Given the description of an element on the screen output the (x, y) to click on. 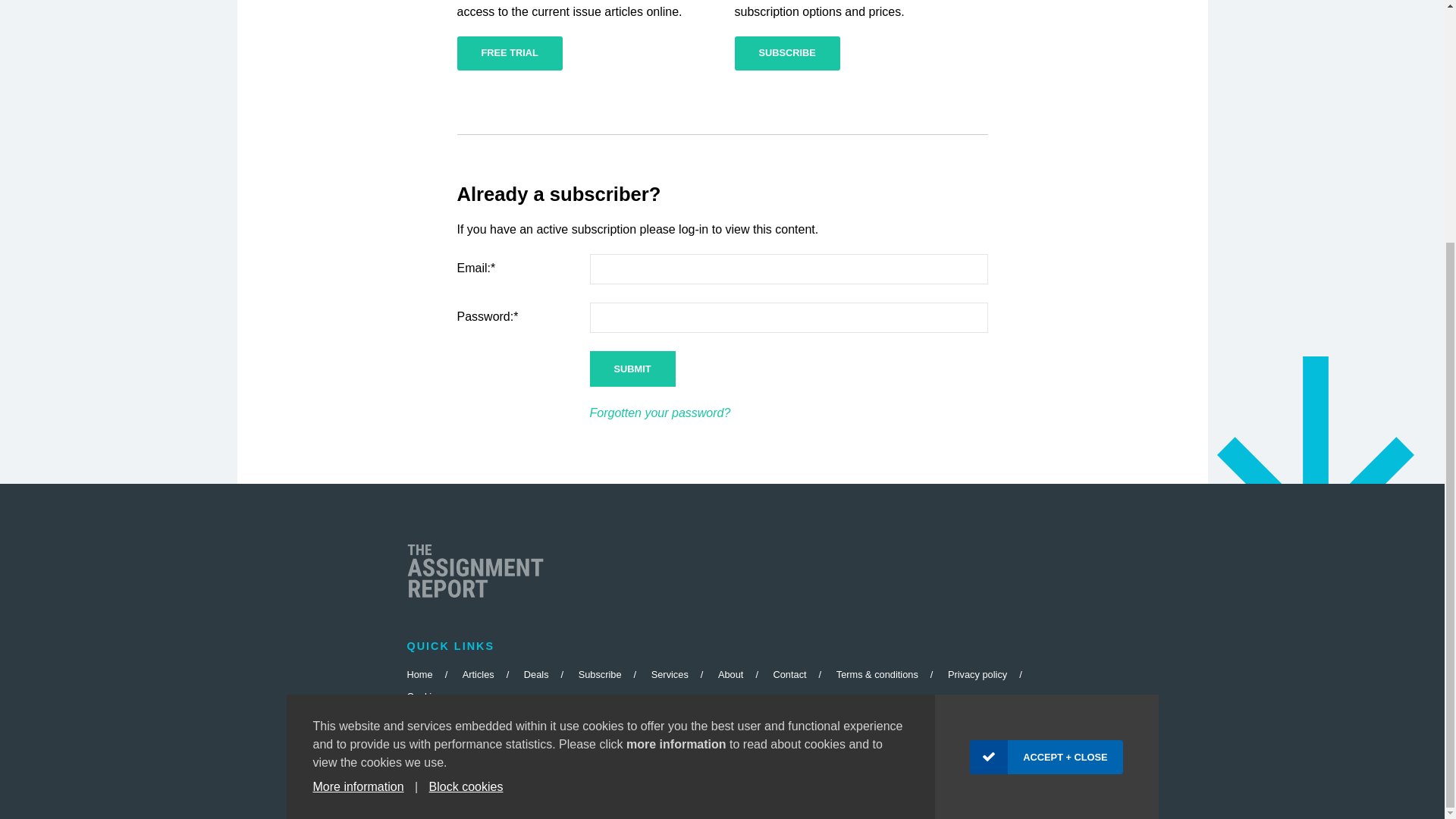
More information (358, 451)
SUBSCRIBE (786, 53)
Contact (789, 674)
Cookies (423, 696)
KISS (673, 745)
Privacy policy (977, 674)
Submit (632, 368)
FREE TRIAL (509, 53)
Block cookies (466, 451)
Forgotten your password? (659, 412)
Articles (479, 674)
Deals (536, 674)
About (729, 674)
Services (669, 674)
Subscribe (599, 674)
